Given the description of an element on the screen output the (x, y) to click on. 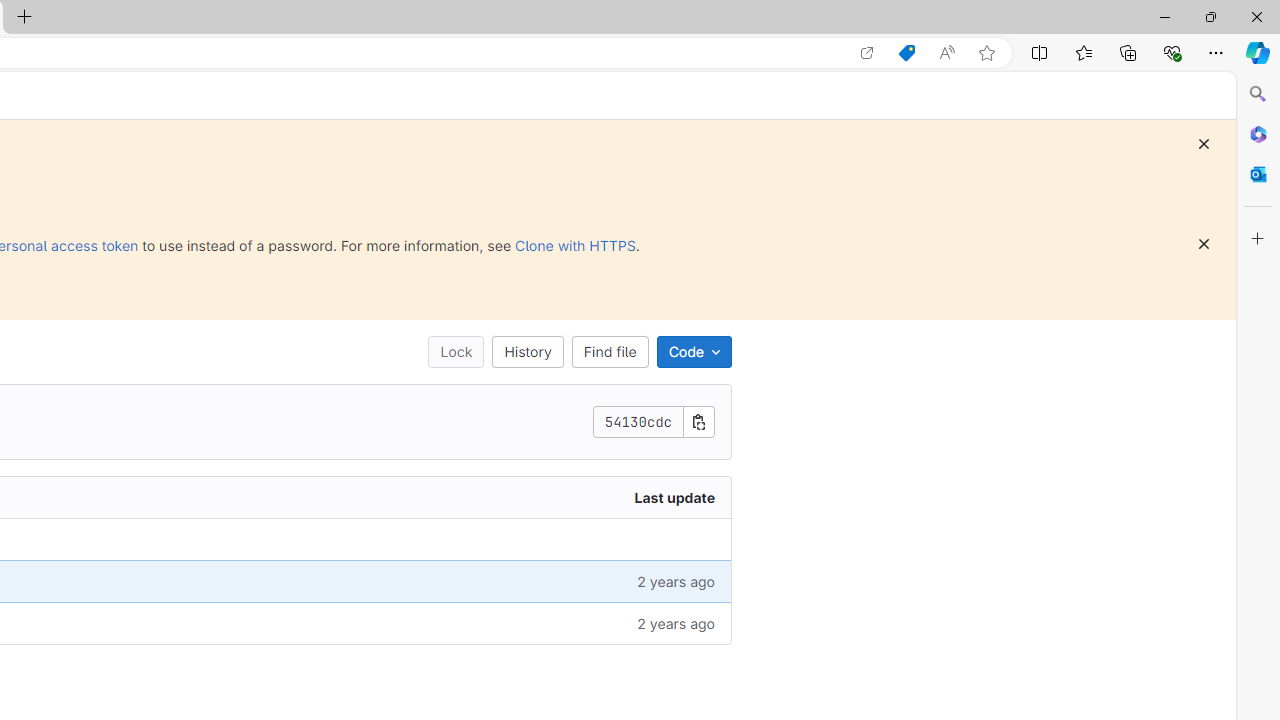
Copy commit SHA (699, 421)
Class: s16 gl-icon gl-button-icon  (1203, 243)
Lock (456, 351)
Open in app (867, 53)
Shopping in Microsoft Edge (906, 53)
History (527, 351)
